Given the description of an element on the screen output the (x, y) to click on. 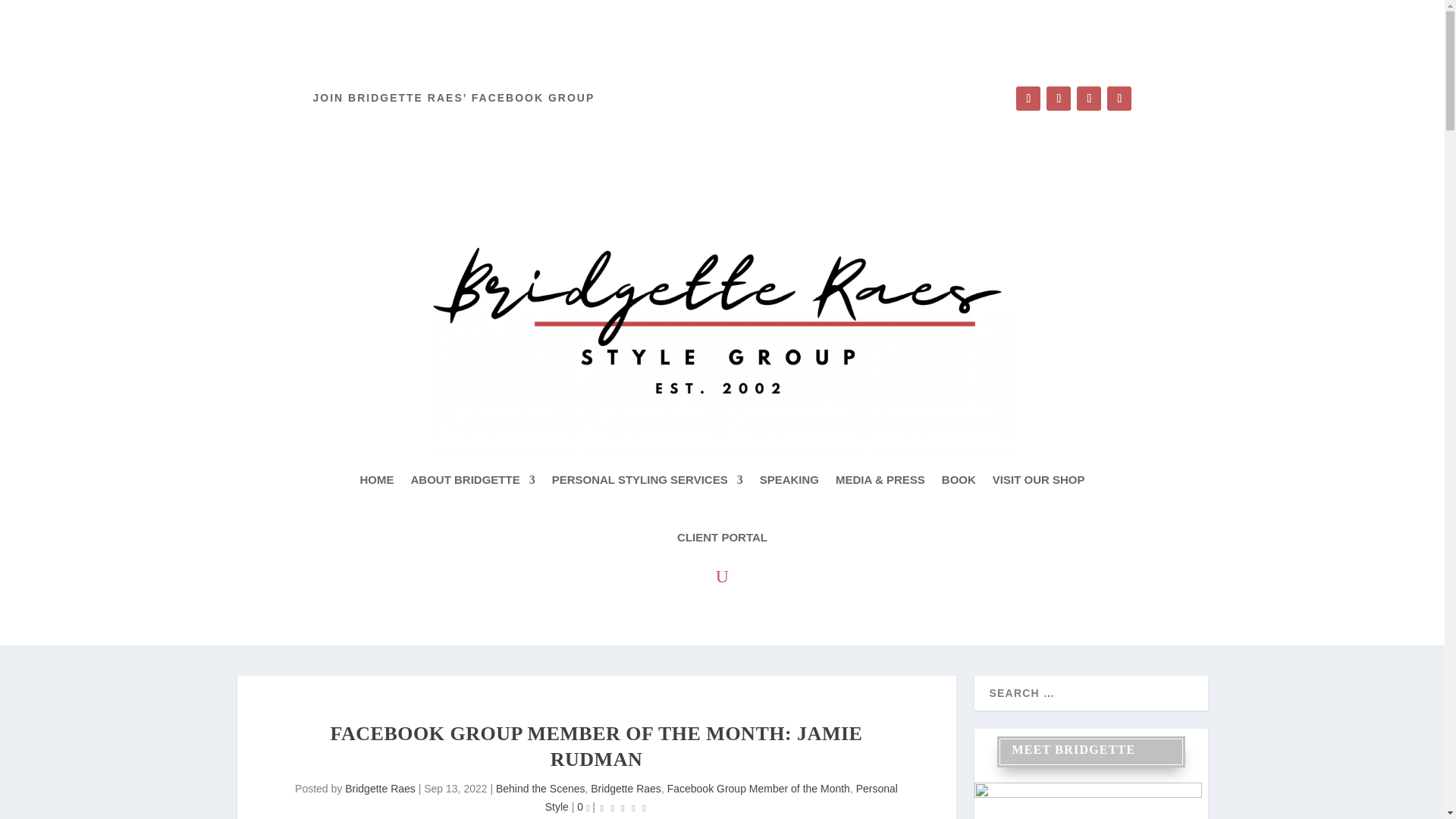
Posts by Bridgette Raes (379, 788)
VISIT OUR SHOP (1038, 479)
Facebook Group Member of the Month (758, 788)
Bridgette Raes (379, 788)
Follow on Facebook (1028, 98)
Bridgette Raes (626, 788)
Follow on Instagram (1058, 98)
SPEAKING (789, 479)
ABOUT BRIDGETTE (472, 479)
Personal Style (721, 797)
